Given the description of an element on the screen output the (x, y) to click on. 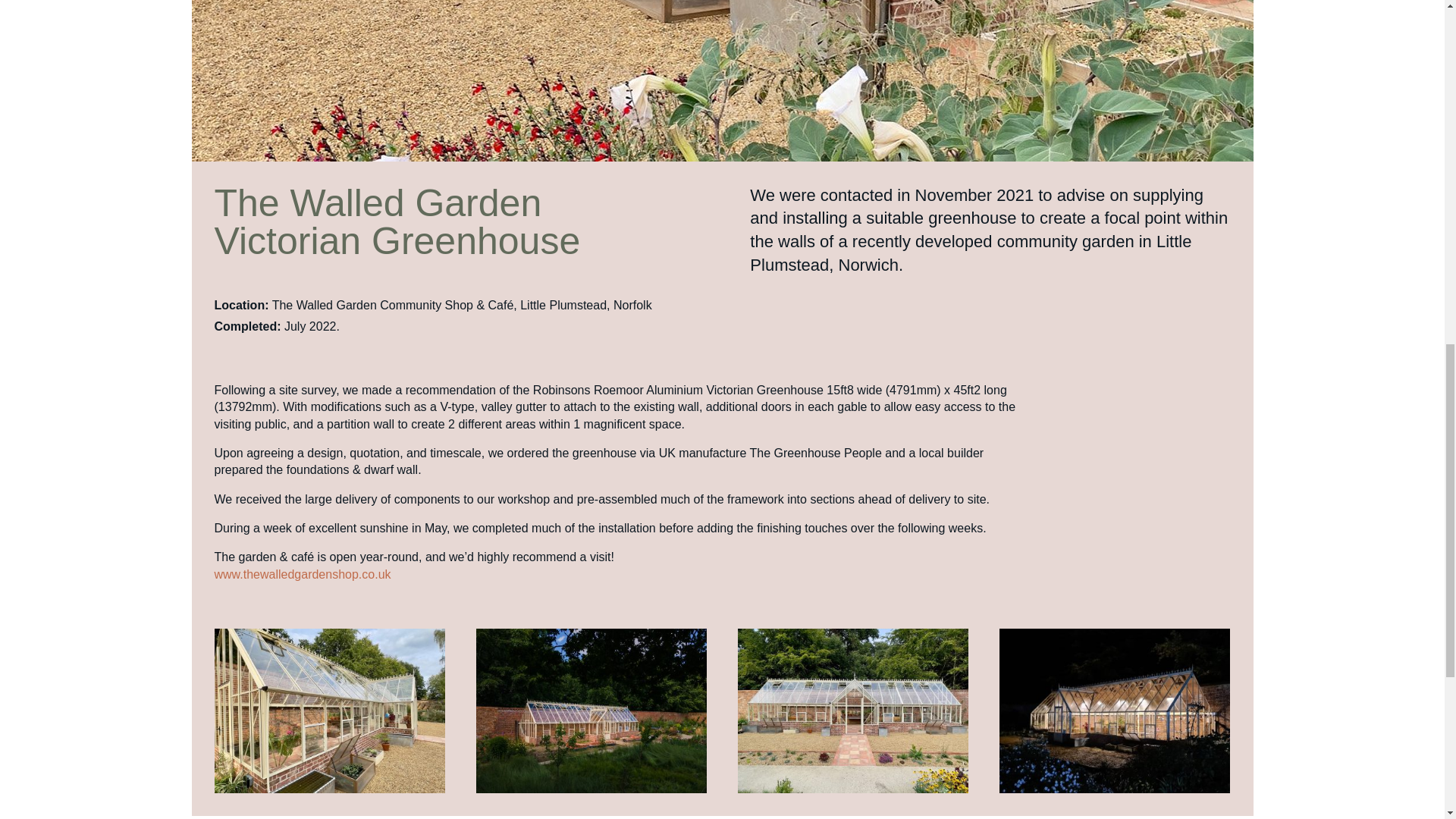
www.thewalledgardenshop.co.uk (302, 574)
The Walled Garden -6-web (329, 792)
The Walled Garden - web (591, 792)
The Walled Garden - night-web (1114, 792)
The Walled Garden -5-web (853, 792)
